Given the description of an element on the screen output the (x, y) to click on. 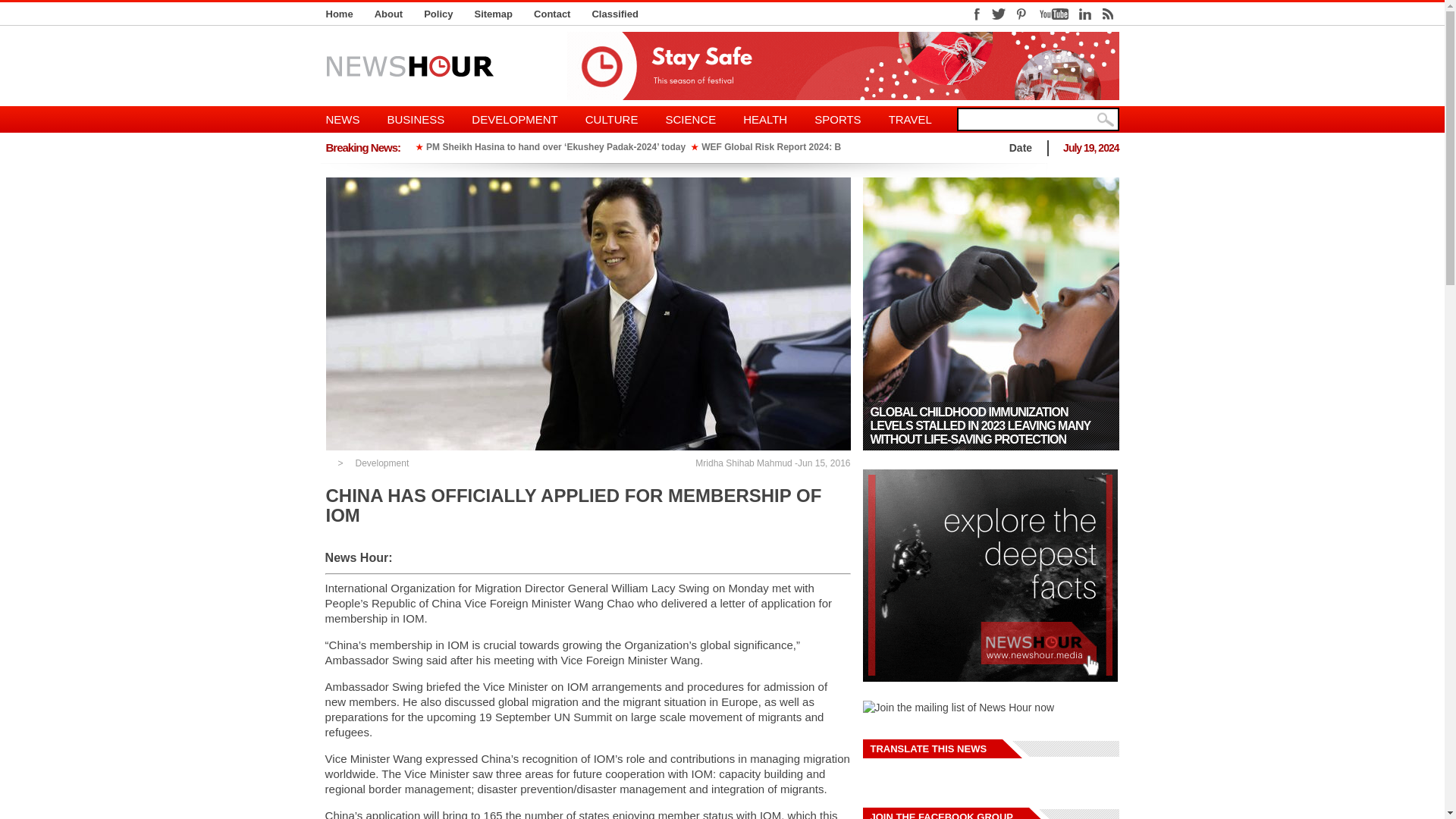
About (388, 13)
Sitemap (493, 13)
News (350, 119)
Stay safe this season of festival and read News Hour. (843, 65)
Contact (552, 13)
NEWS (350, 119)
Classified (614, 13)
Business (415, 119)
Home (339, 13)
Policy (437, 13)
